Given the description of an element on the screen output the (x, y) to click on. 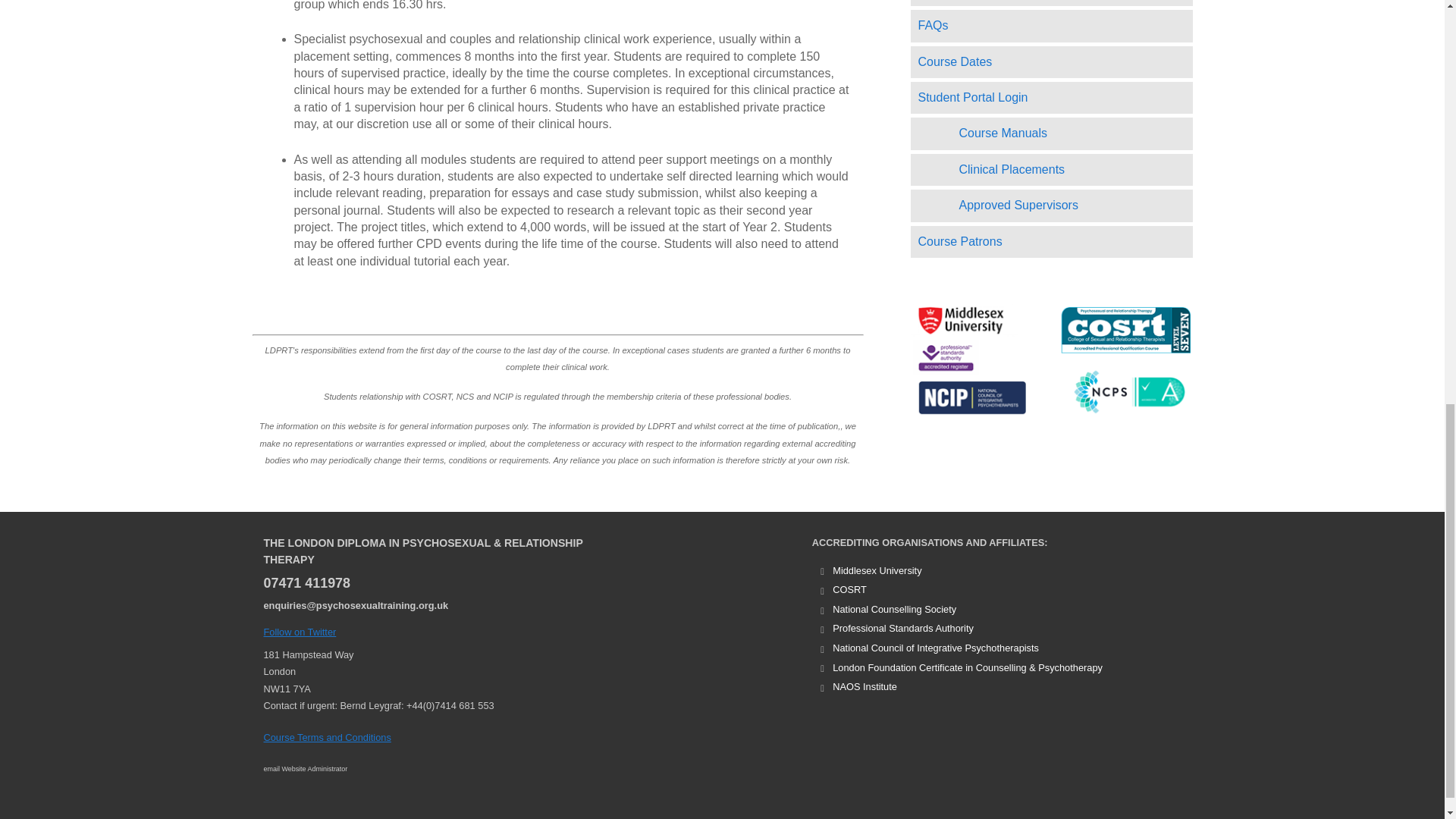
Enquiries (355, 604)
email Website Administrator (305, 768)
